Given the description of an element on the screen output the (x, y) to click on. 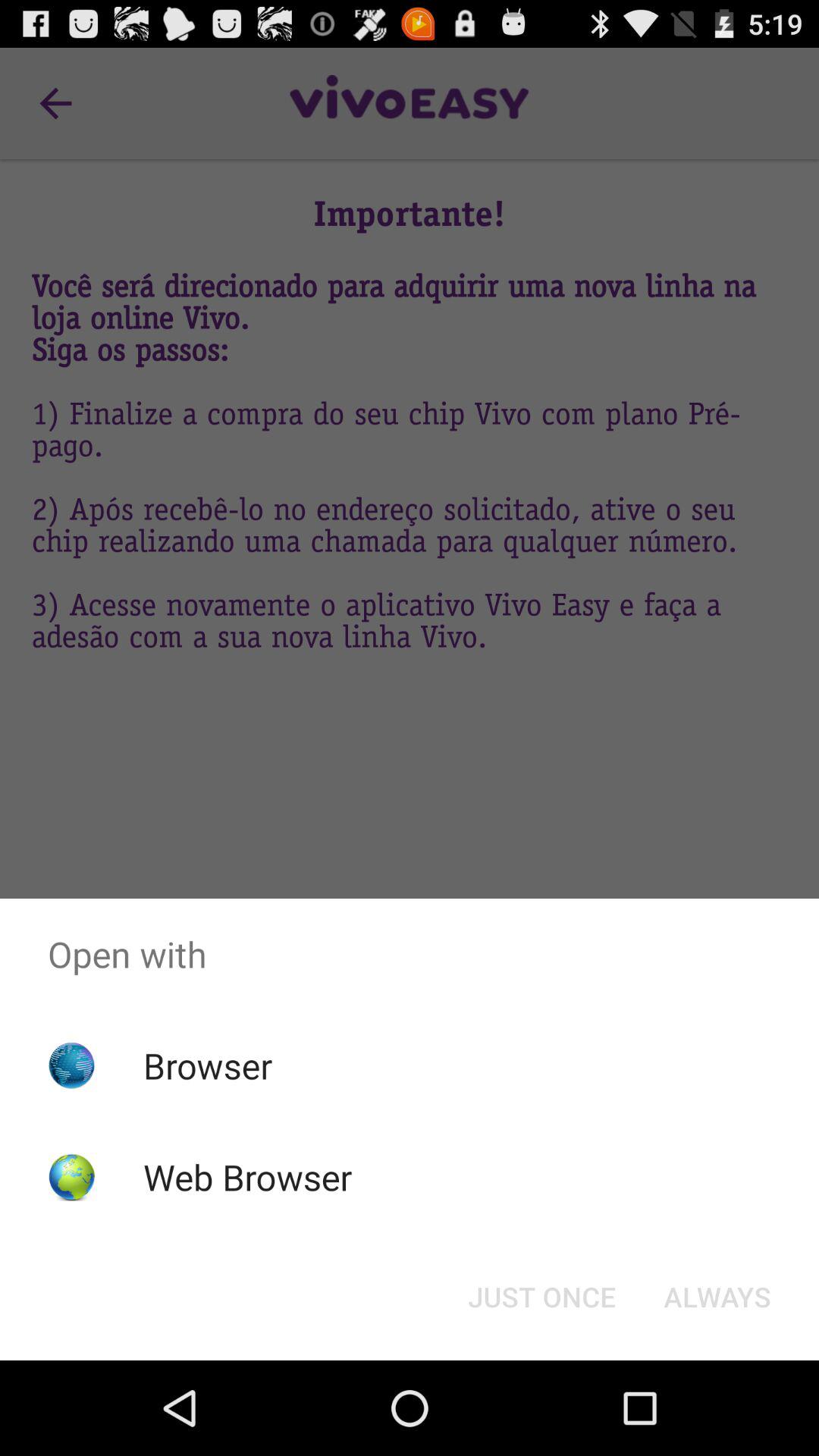
press button next to the always button (541, 1296)
